Given the description of an element on the screen output the (x, y) to click on. 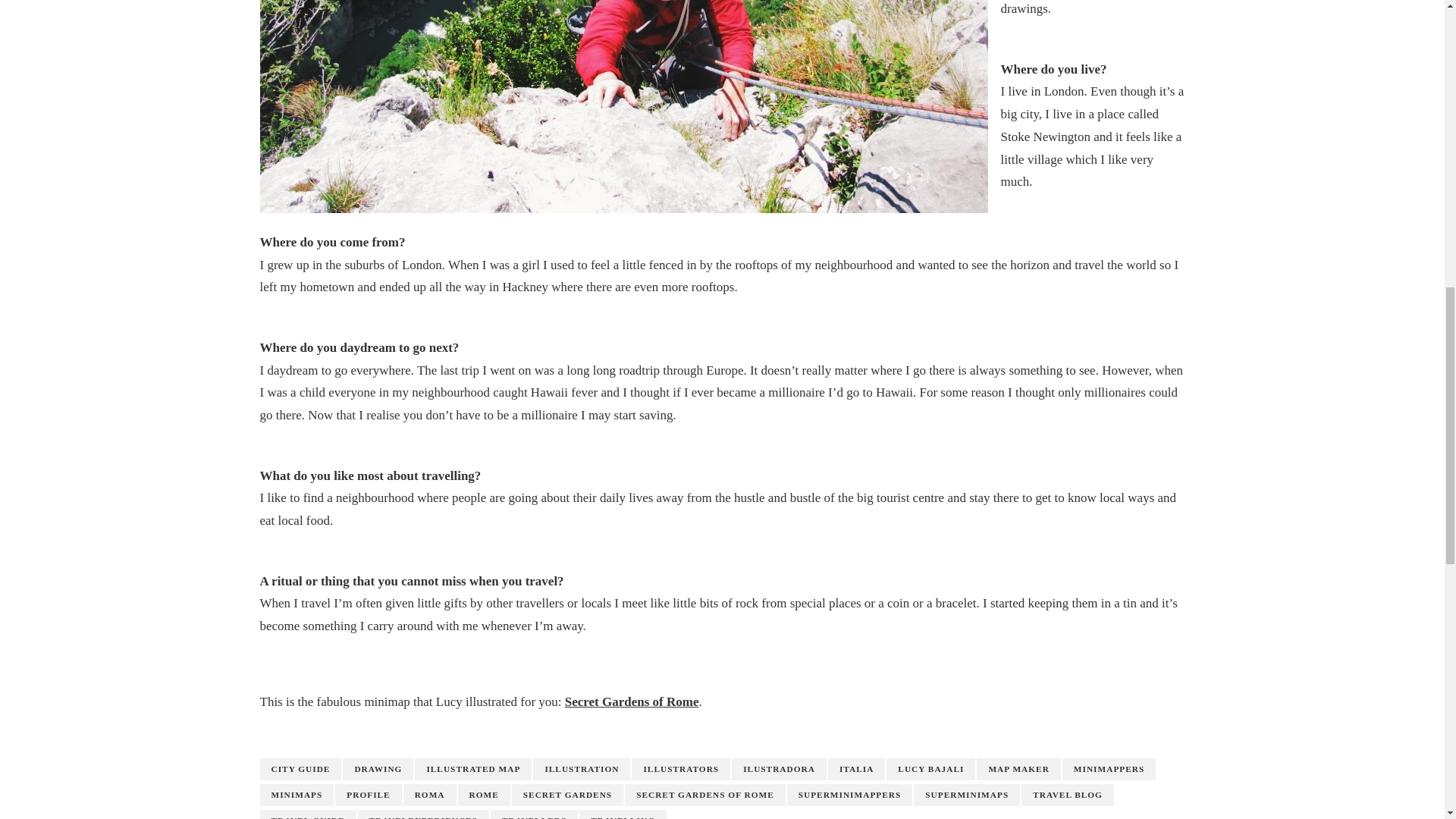
MAP MAKER (1017, 769)
MINIMAPPERS (1109, 769)
ILLUSTRATORS (680, 769)
MINIMAPS (296, 794)
ILLUSTRATED MAP (472, 769)
SECRET GARDENS OF ROME (705, 794)
CITY GUIDE (299, 769)
SUPERMINIMAPPERS (849, 794)
ILLUSTRATION (581, 769)
Secret Gardens of Rome (631, 701)
DRAWING (377, 769)
ROME (484, 794)
ITALIA (856, 769)
PROFILE (367, 794)
SUPERMINIMAPS (967, 794)
